Given the description of an element on the screen output the (x, y) to click on. 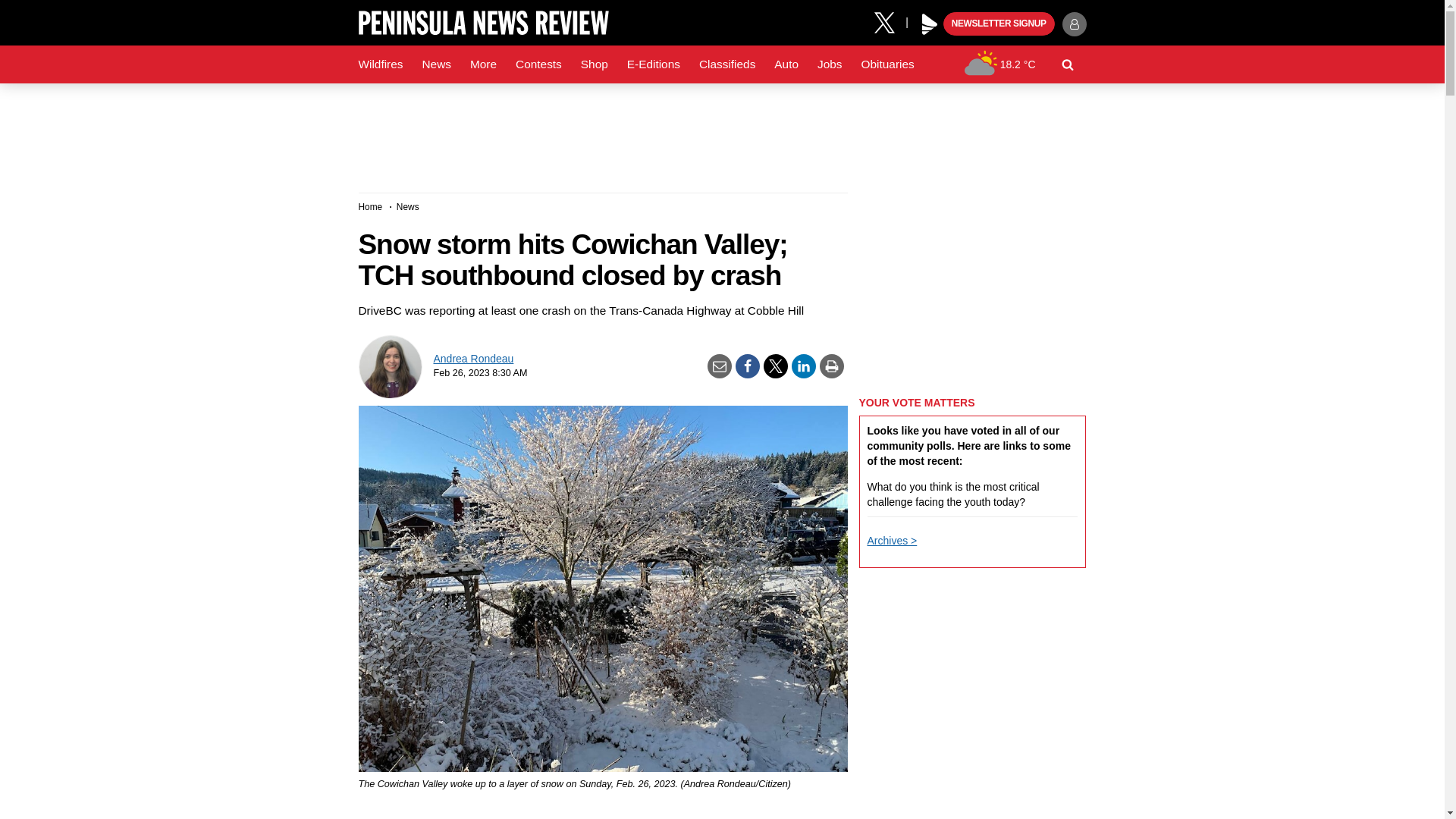
Play (929, 24)
Wildfires (380, 64)
News (435, 64)
X (889, 21)
NEWSLETTER SIGNUP (998, 24)
